Given the description of an element on the screen output the (x, y) to click on. 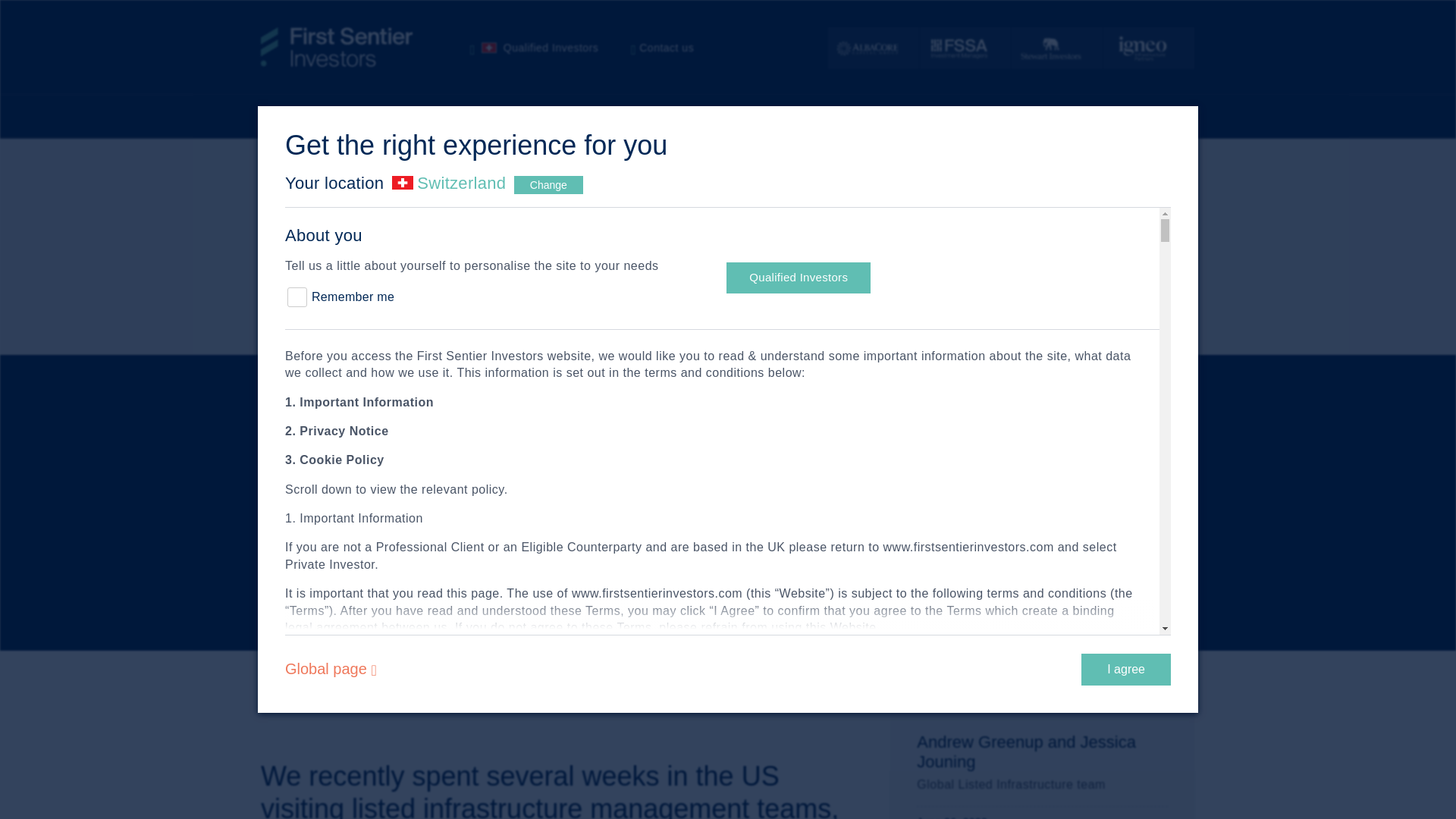
Home (542, 47)
Contact us (298, 116)
